Given the description of an element on the screen output the (x, y) to click on. 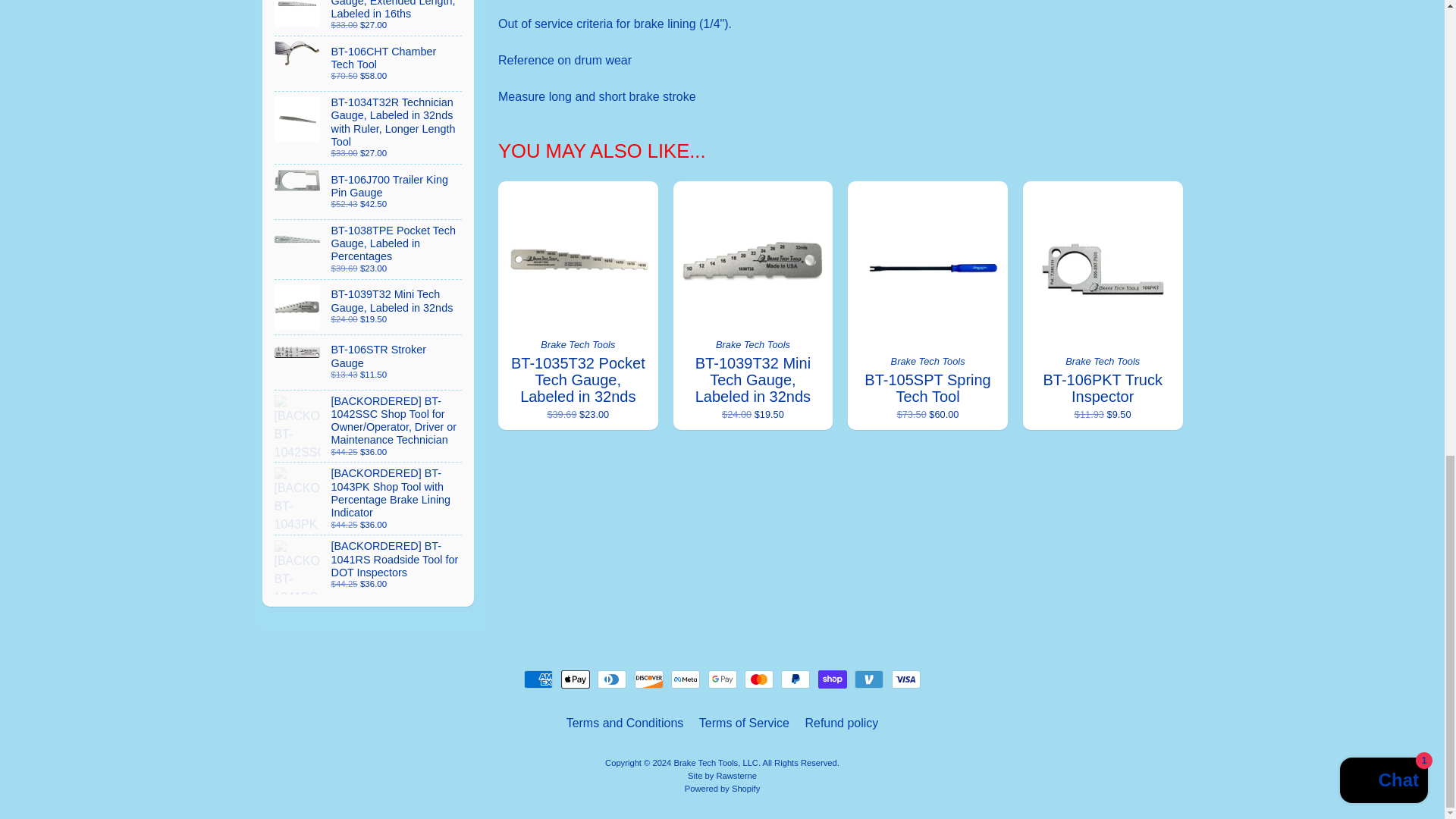
Diners Club (611, 679)
Venmo (868, 679)
BT-1039T32 Mini Tech Gauge, Labeled in 32nds (369, 307)
American Express (538, 679)
Shop Pay (832, 679)
PayPal (794, 679)
Mastercard (758, 679)
BT-106CHT Chamber Tech Tool (369, 63)
Apple Pay (574, 679)
Google Pay (721, 679)
BT-1038TPE Pocket Tech Gauge, Labeled in Percentages (369, 249)
Discover (648, 679)
Meta Pay (685, 679)
BT-106STR Stroker Gauge (369, 361)
